Given the description of an element on the screen output the (x, y) to click on. 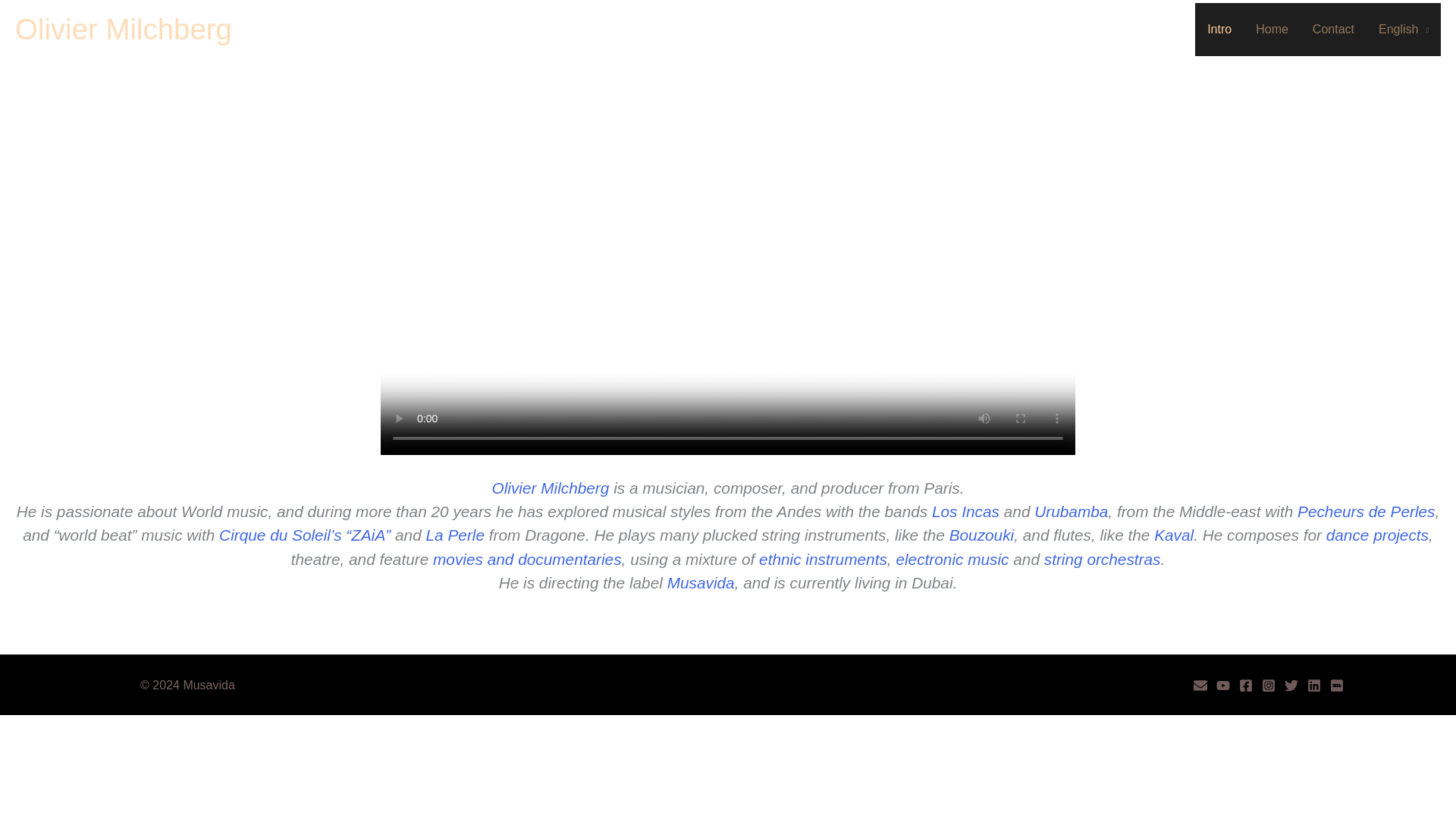
Olivier Milchberg (122, 29)
Home (1271, 29)
Olivier Milchberg (550, 487)
Kaval (1173, 534)
Pecheurs de Perles (1366, 511)
La Perle (455, 534)
Bouzouki (981, 534)
electronic music (952, 559)
dance projects (1377, 534)
Musavida (700, 582)
Los Incas (964, 511)
English (1404, 29)
Intro (1219, 29)
Contact (1333, 29)
movies and documentaries (526, 559)
